Given the description of an element on the screen output the (x, y) to click on. 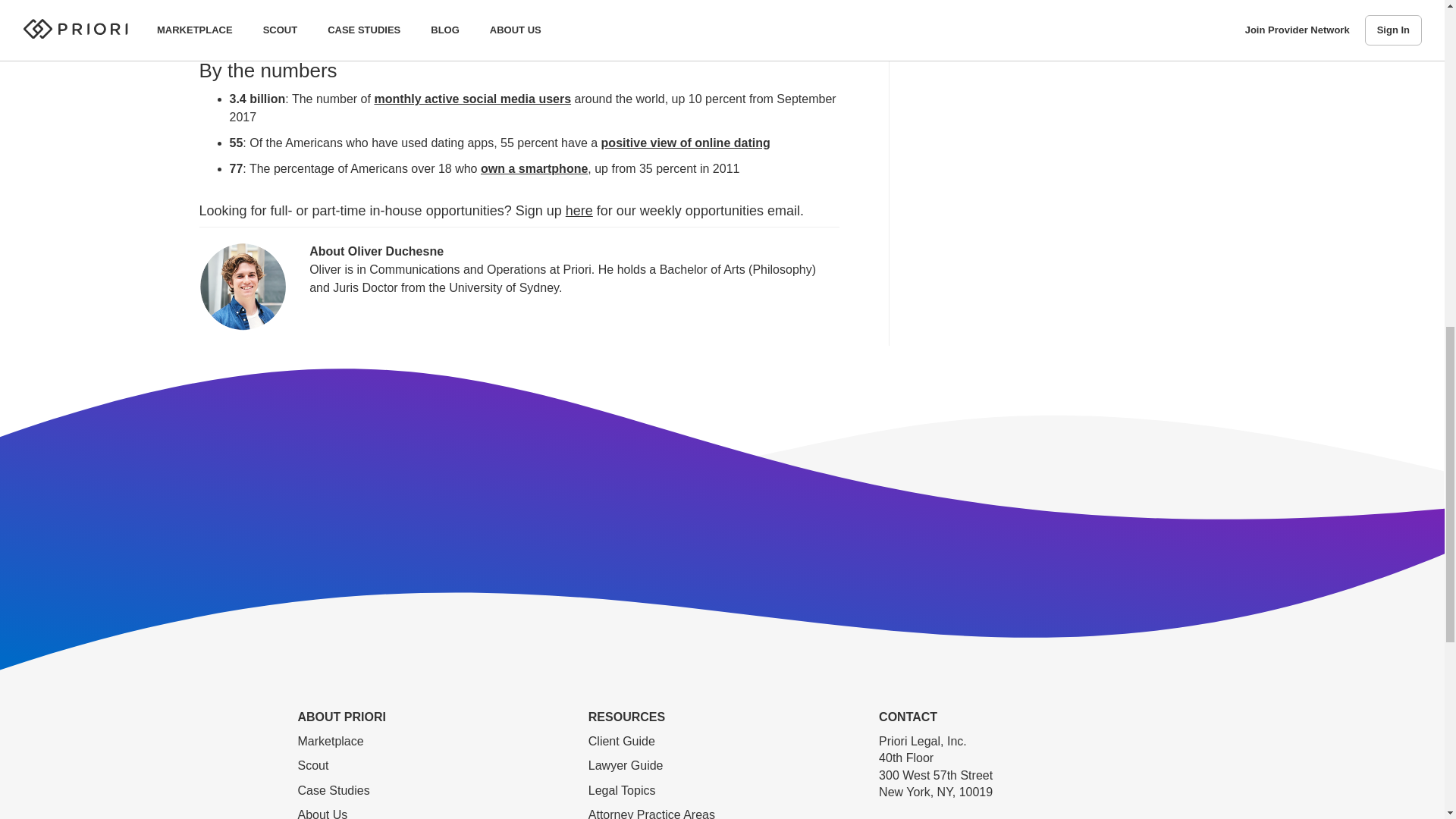
monthly active social media users (472, 98)
own a smartphone (534, 168)
Digital transformation... (296, 33)
I do corporate, divorce and malpractice... (346, 8)
here (579, 210)
positive view of online dating (685, 142)
